Given the description of an element on the screen output the (x, y) to click on. 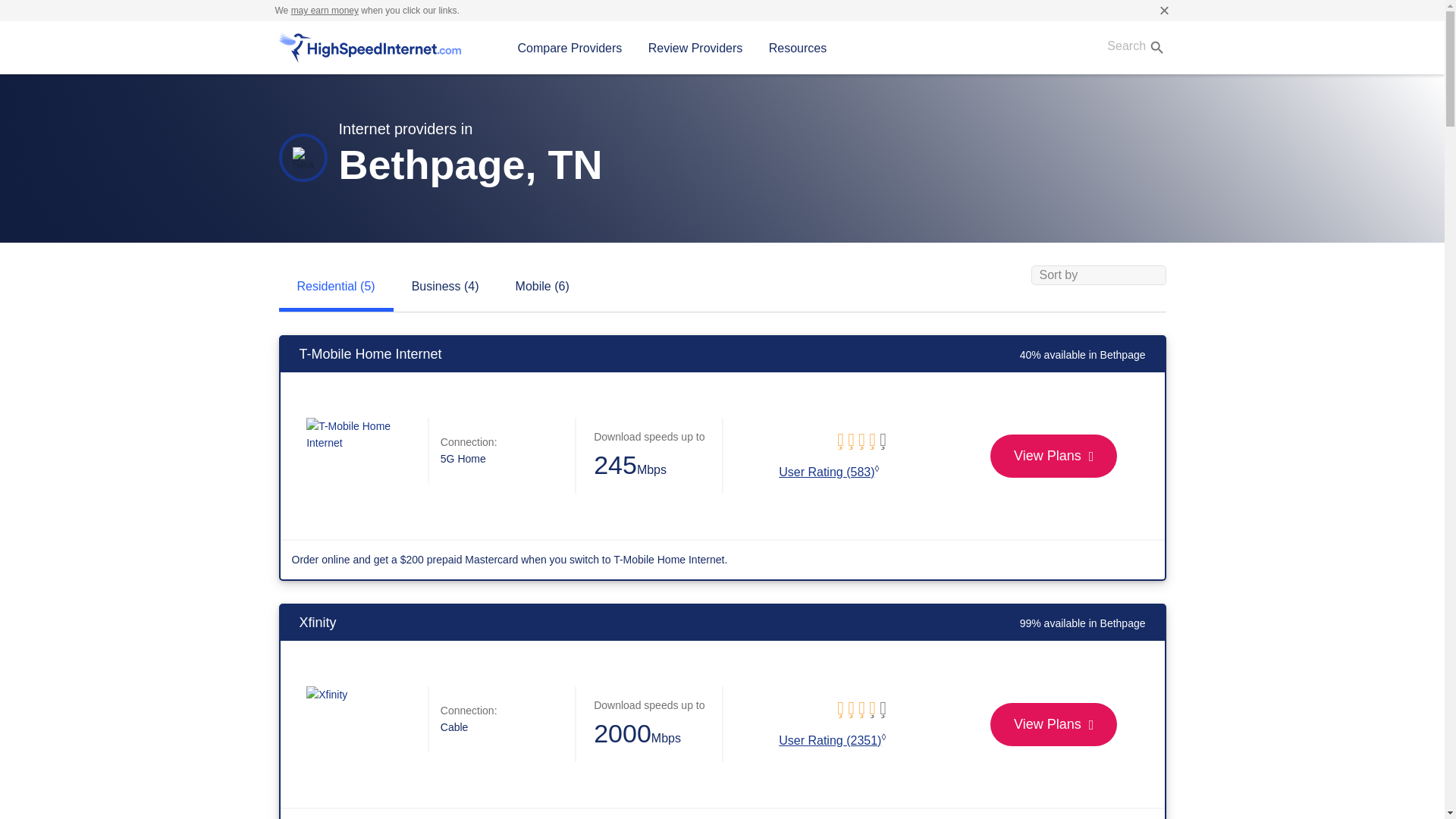
View Plans (1053, 724)
View Plans (1053, 455)
High Speed Internet Providers (370, 47)
Resources (797, 47)
Search (1131, 47)
Compare Providers (569, 47)
Review Providers (695, 47)
may earn money (324, 9)
